Given the description of an element on the screen output the (x, y) to click on. 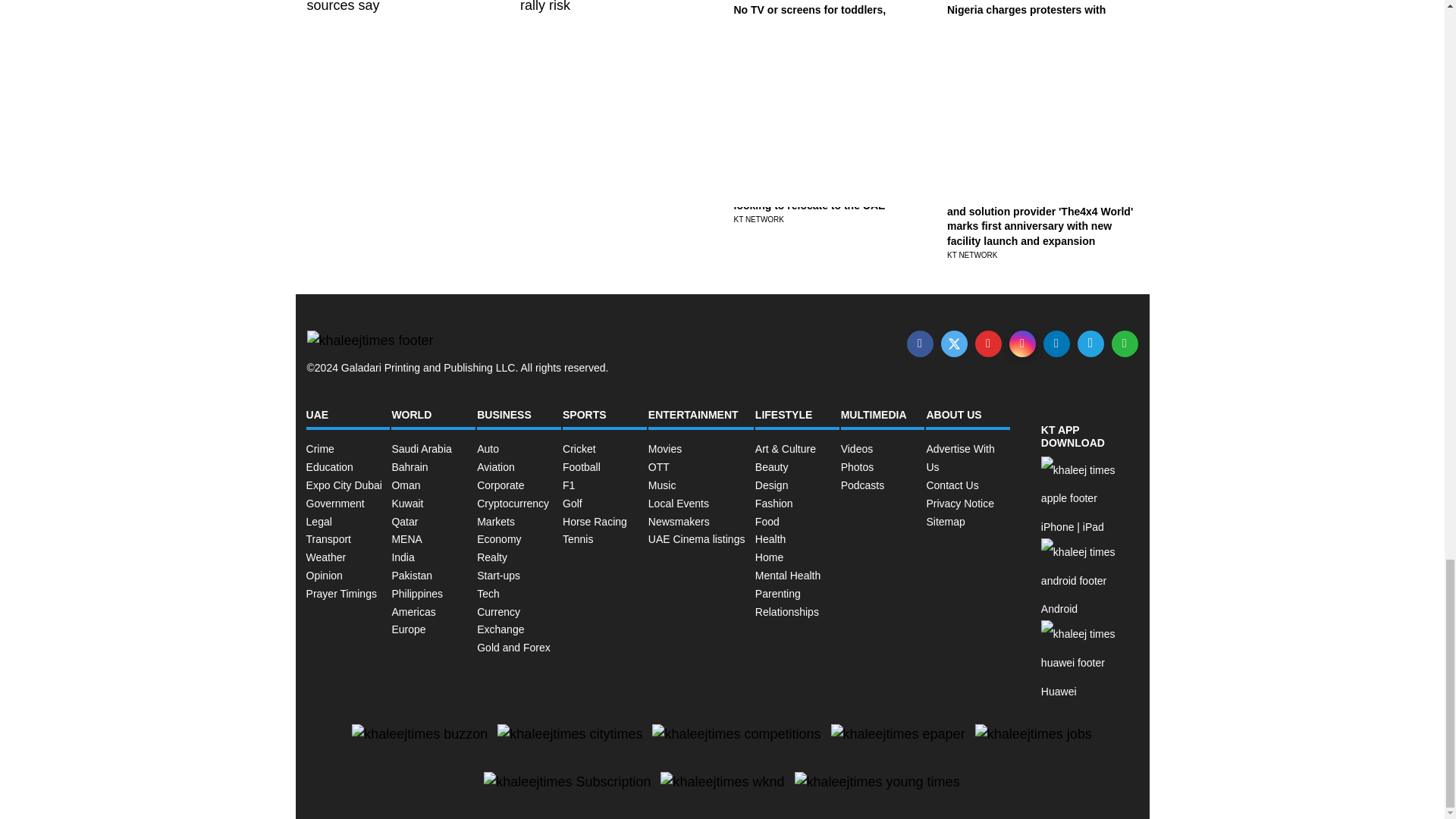
Finland plans to ban Russians from buying property (609, 142)
ECB policymakers at odds over downturn's impact, sources say (386, 37)
Nigeria charges protesters with treason, inciting military (1026, 17)
No TV or screens for toddlers, Sweden tells parents (809, 17)
